Given the description of an element on the screen output the (x, y) to click on. 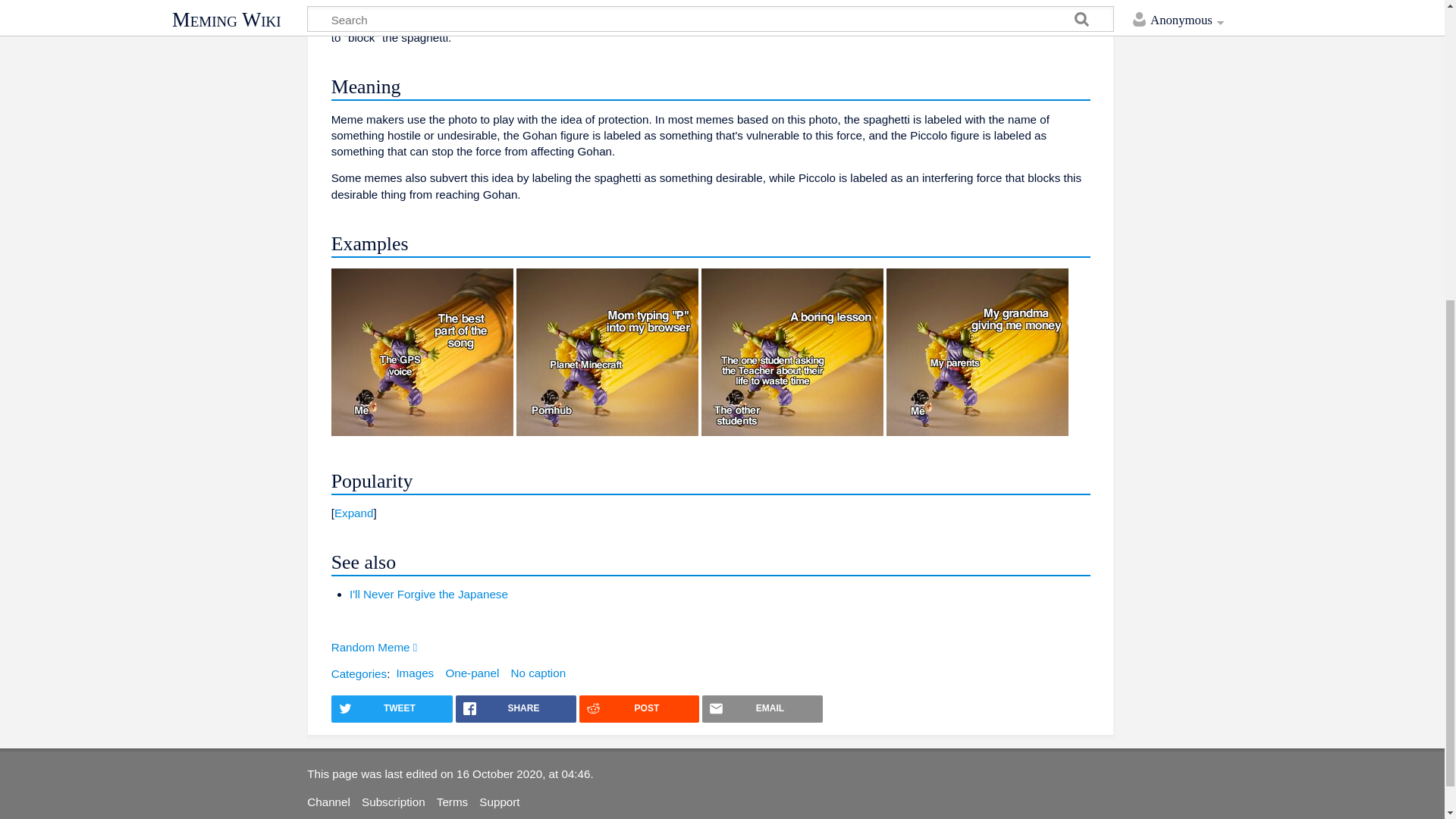
SHARE (515, 708)
Category:One-panel (472, 672)
EMAIL (761, 708)
I'll Never Forgive the Japanese (428, 594)
Category:No caption (538, 672)
Terms of Service (451, 801)
Category:Images (414, 672)
One-panel (472, 672)
Special:Random (374, 646)
POST (639, 708)
Terms (451, 801)
Special:Subscription (393, 801)
Special:Categories (359, 672)
Images (414, 672)
Subscription (393, 801)
